Given the description of an element on the screen output the (x, y) to click on. 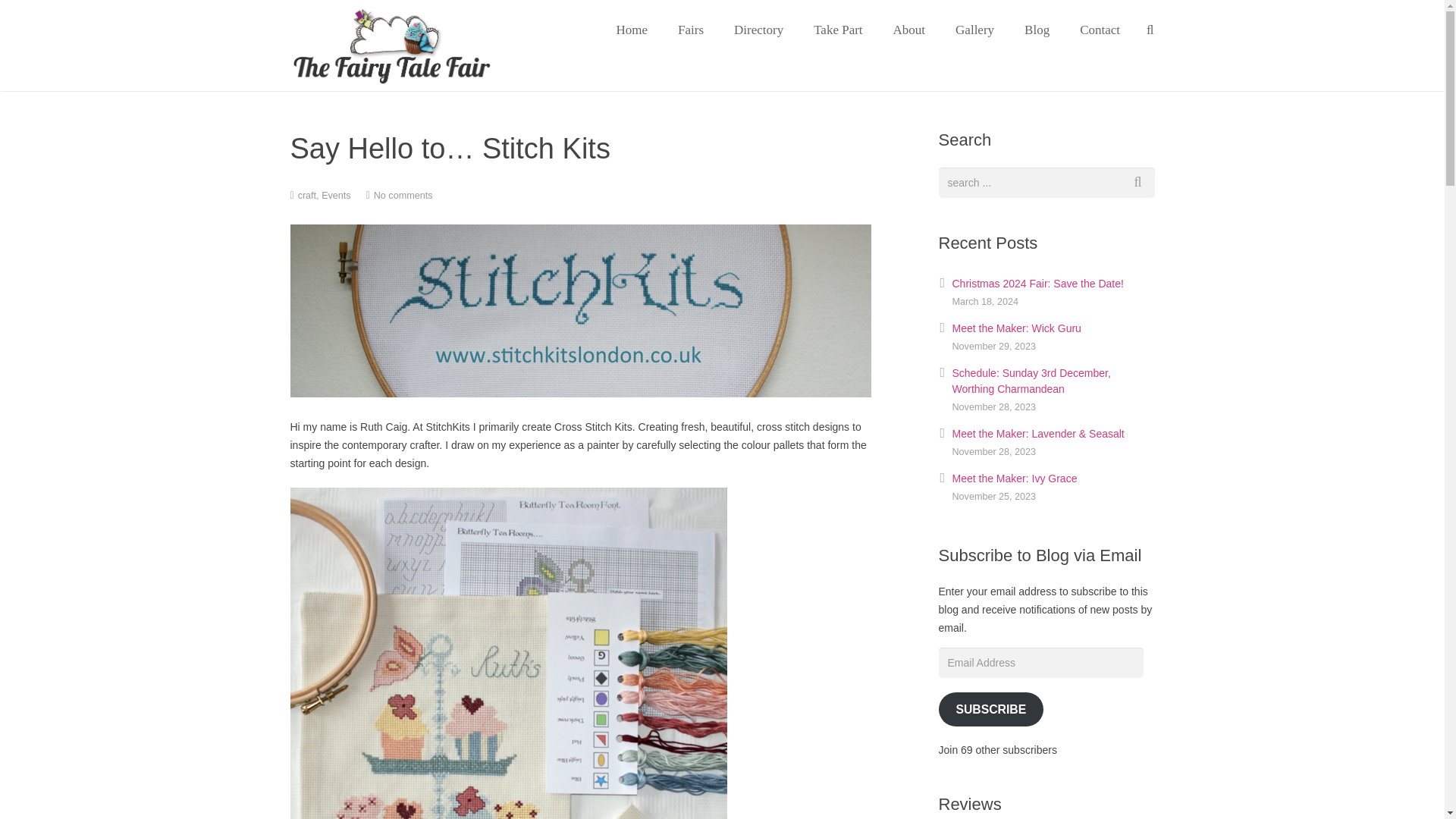
Events (335, 195)
No comments (403, 195)
Christmas 2024 Fair: Save the Date! (1038, 283)
craft (307, 195)
Contact (1099, 30)
Take Part (837, 30)
Home (630, 30)
Fairs (690, 30)
Blog (1036, 30)
About (908, 30)
